Given the description of an element on the screen output the (x, y) to click on. 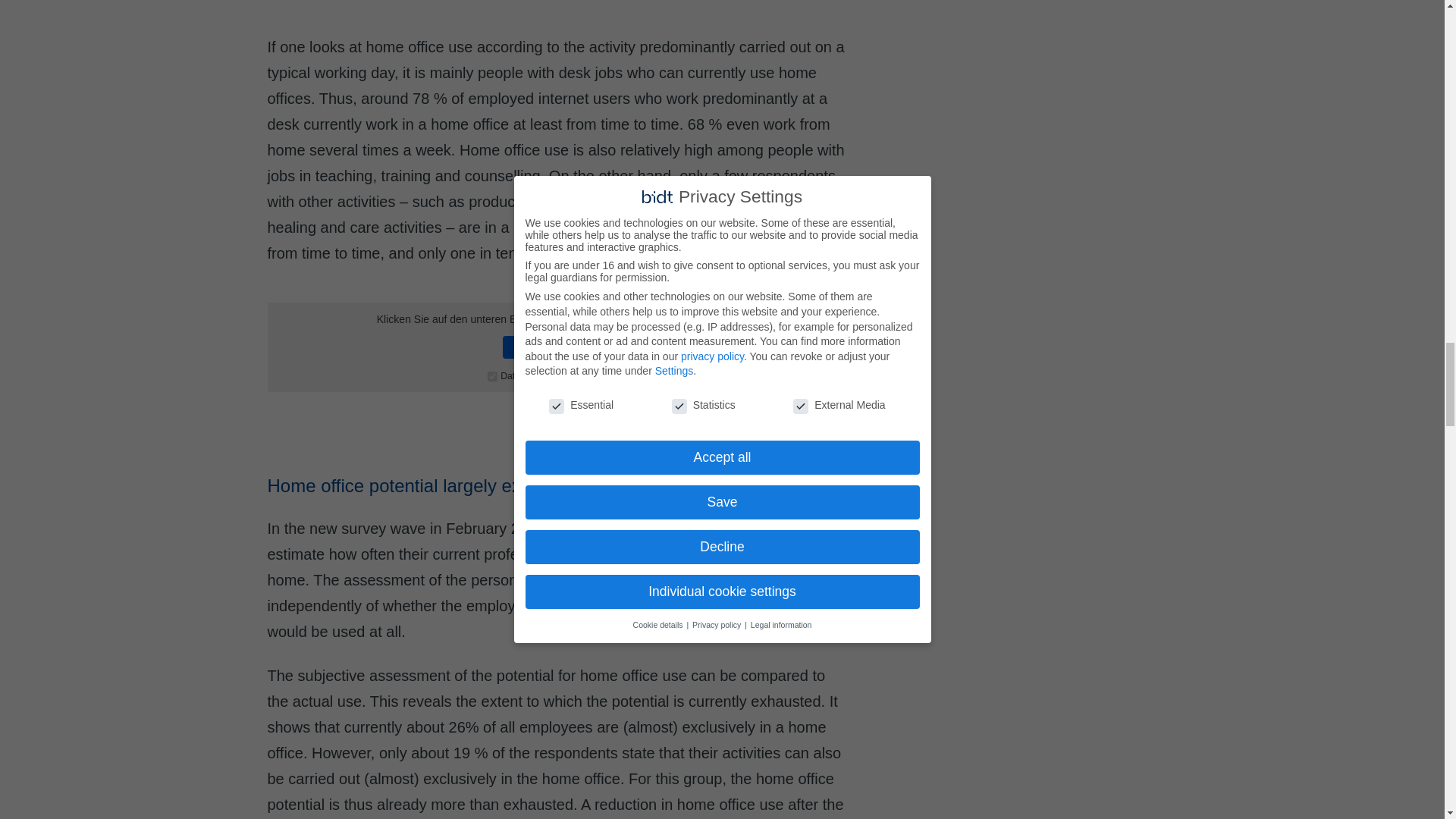
1 (492, 376)
